Given the description of an element on the screen output the (x, y) to click on. 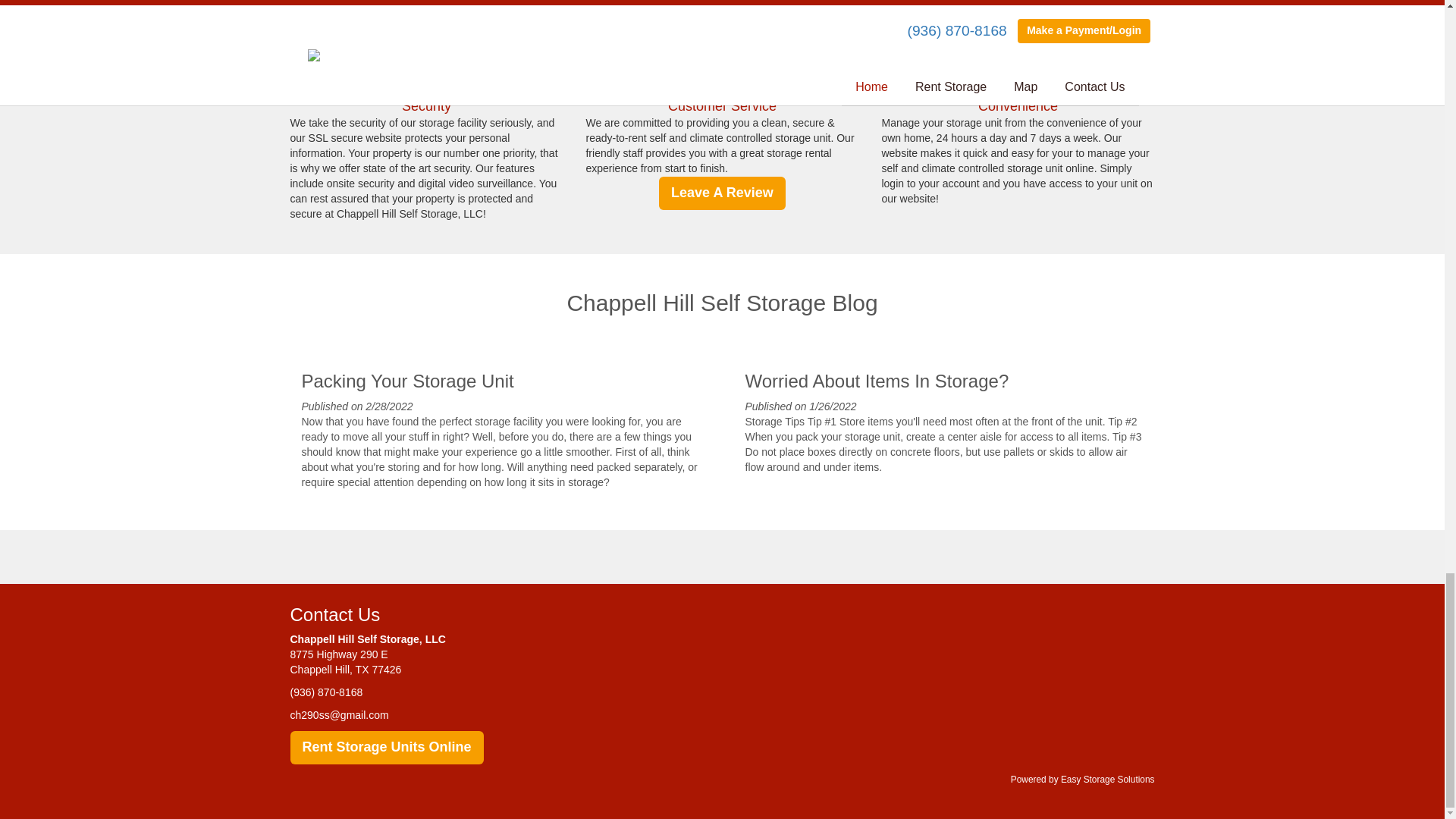
Leave A Review (722, 192)
Rent Storage Units Online (386, 747)
